Given the description of an element on the screen output the (x, y) to click on. 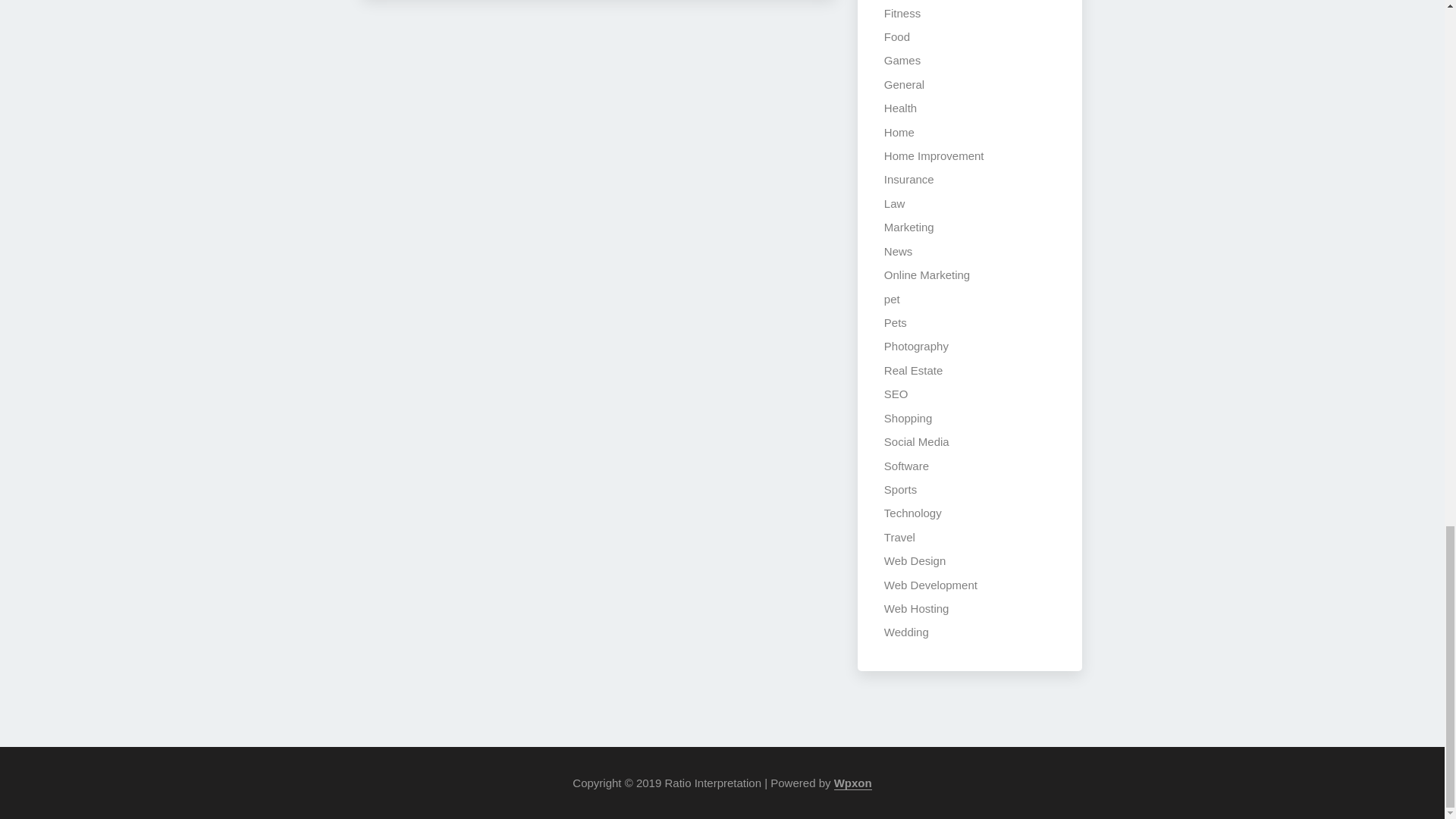
Home Improvement (933, 155)
Insurance (908, 178)
Food (896, 36)
Health (900, 107)
Home (898, 132)
General (903, 83)
Fitness (901, 12)
Games (901, 60)
